Given the description of an element on the screen output the (x, y) to click on. 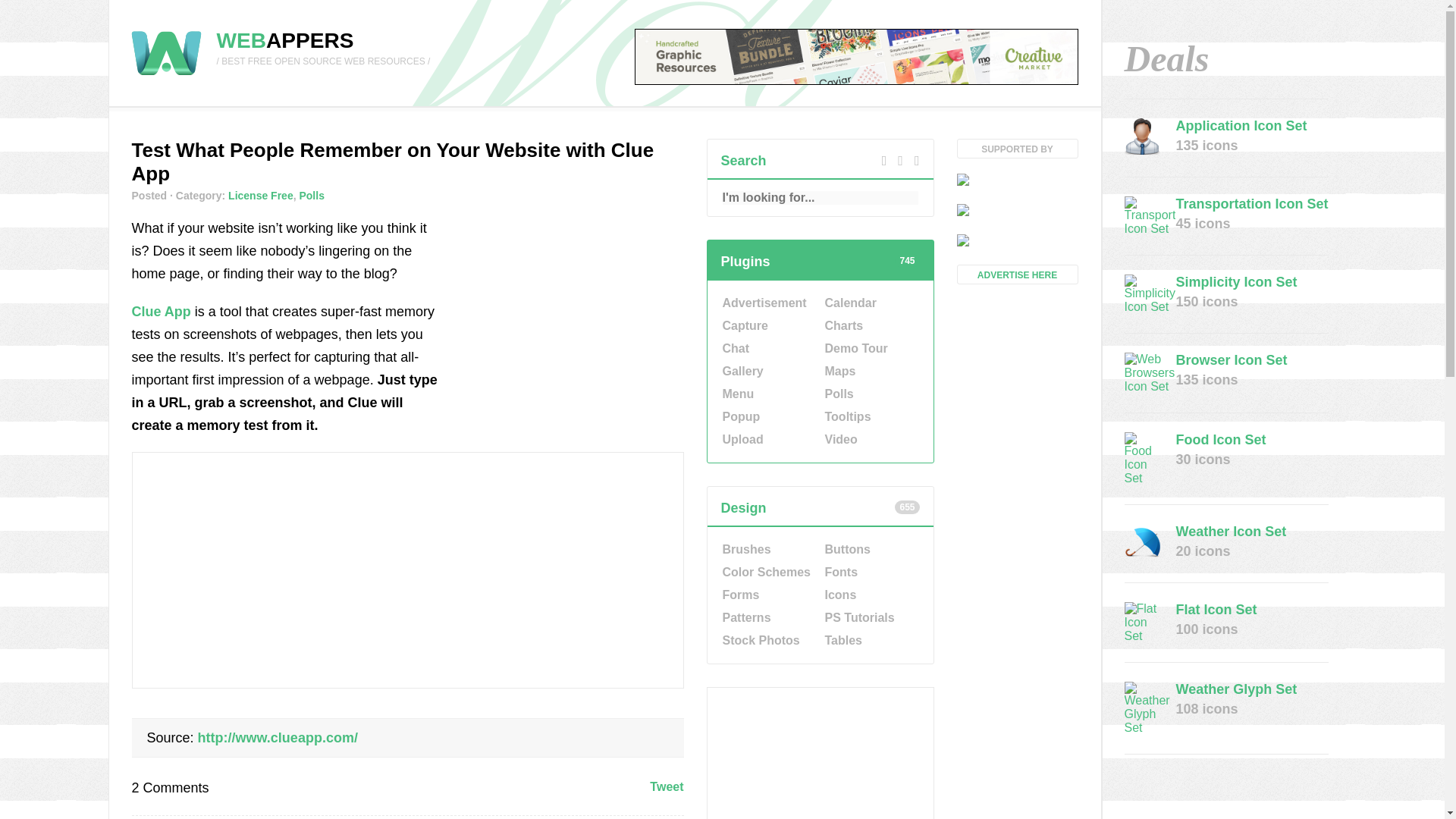
Menu (767, 394)
Demo Tour (870, 348)
WEBAPPERS (284, 40)
Clue App (278, 737)
Clue App (161, 311)
Dreamtemplate (1017, 211)
Stock Photos (767, 640)
Advertisement (820, 753)
Tooltips (870, 416)
Patterns (767, 617)
